Given the description of an element on the screen output the (x, y) to click on. 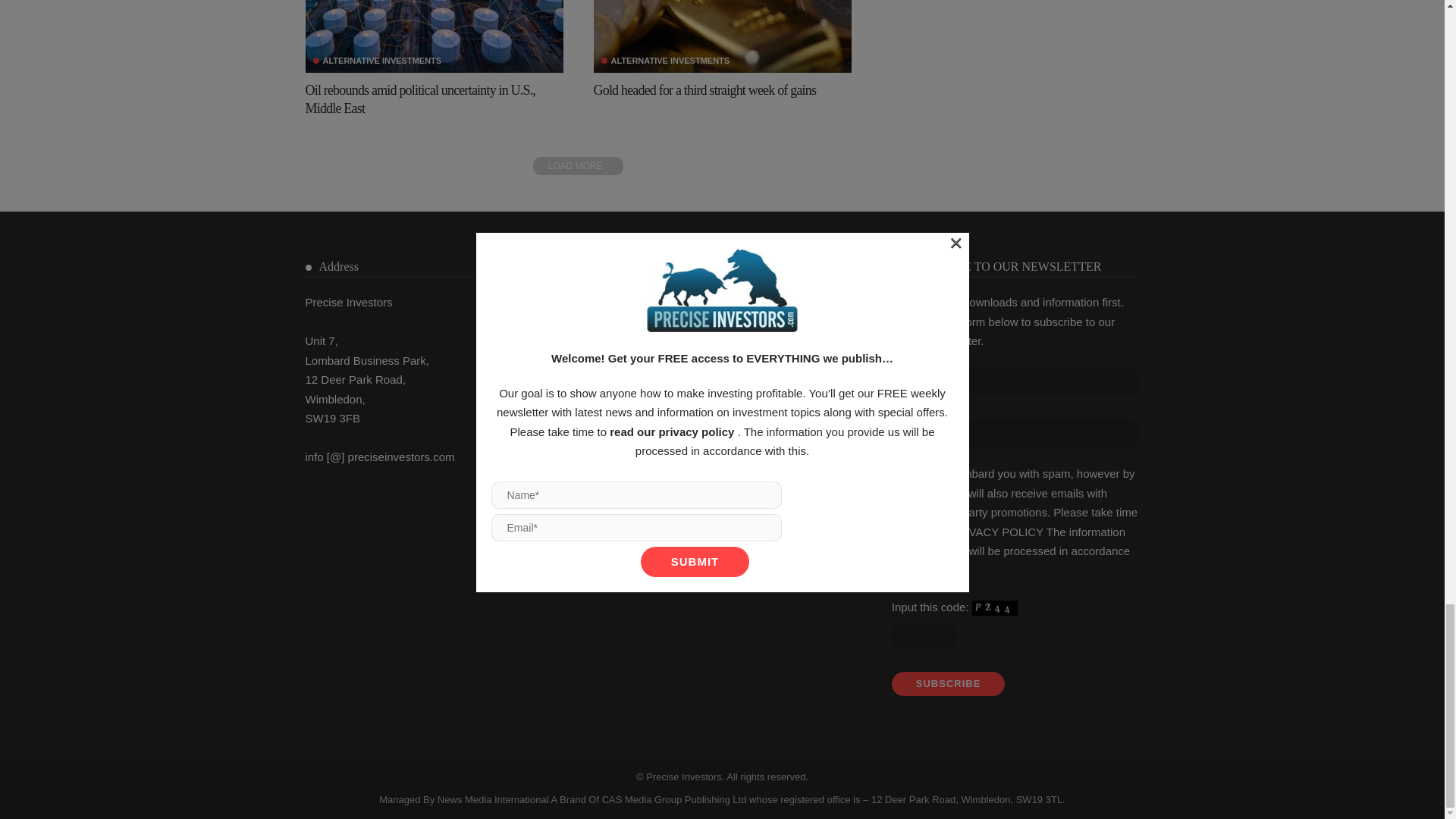
SUBSCRIBE (948, 683)
